Given the description of an element on the screen output the (x, y) to click on. 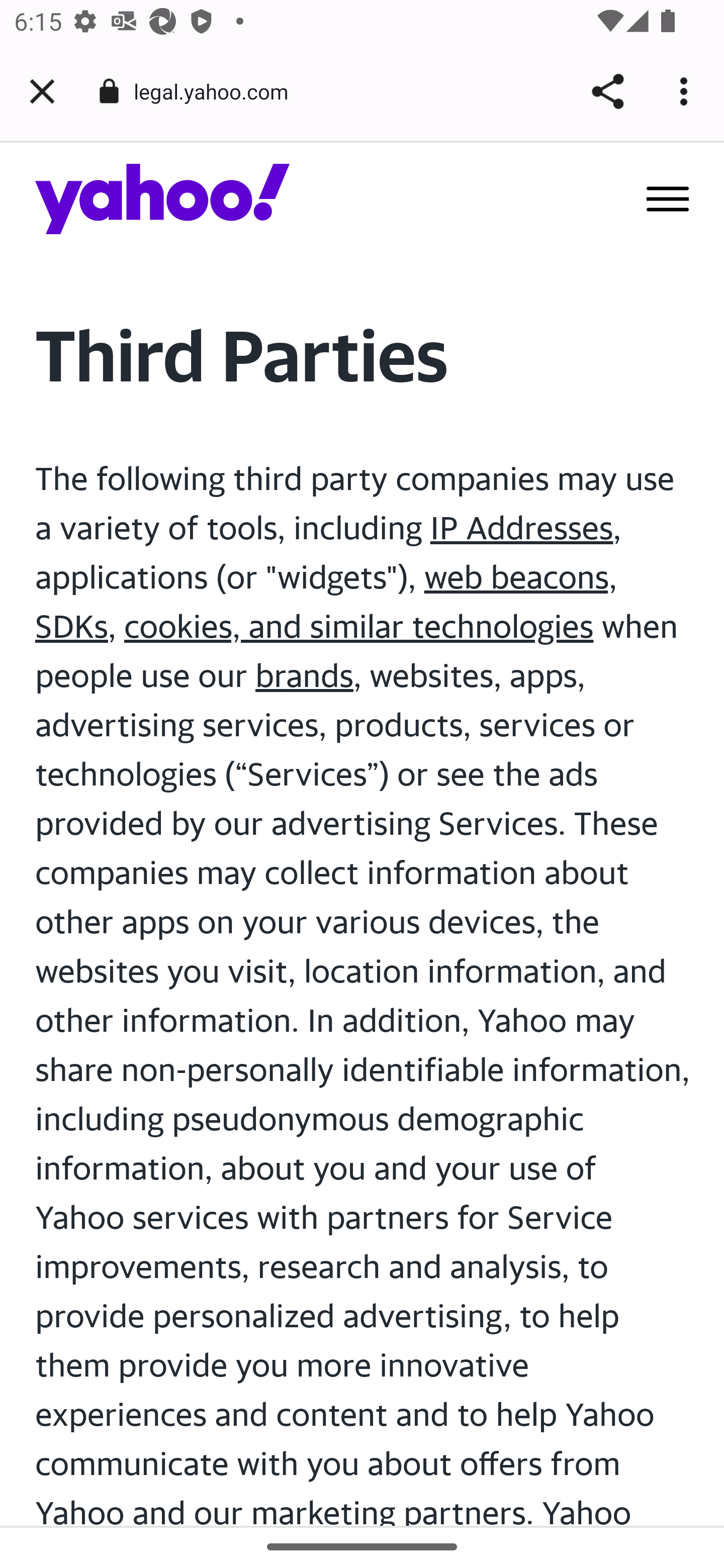
Close tab (42, 91)
Share (607, 91)
More options (687, 91)
Connection is secure (108, 91)
legal.yahoo.com (217, 90)
Yahoo logo (162, 198)
IP Addresses (521, 527)
web beacons, SDKs (326, 601)
cookies, and similar technologies (359, 626)
brands (304, 674)
